Given the description of an element on the screen output the (x, y) to click on. 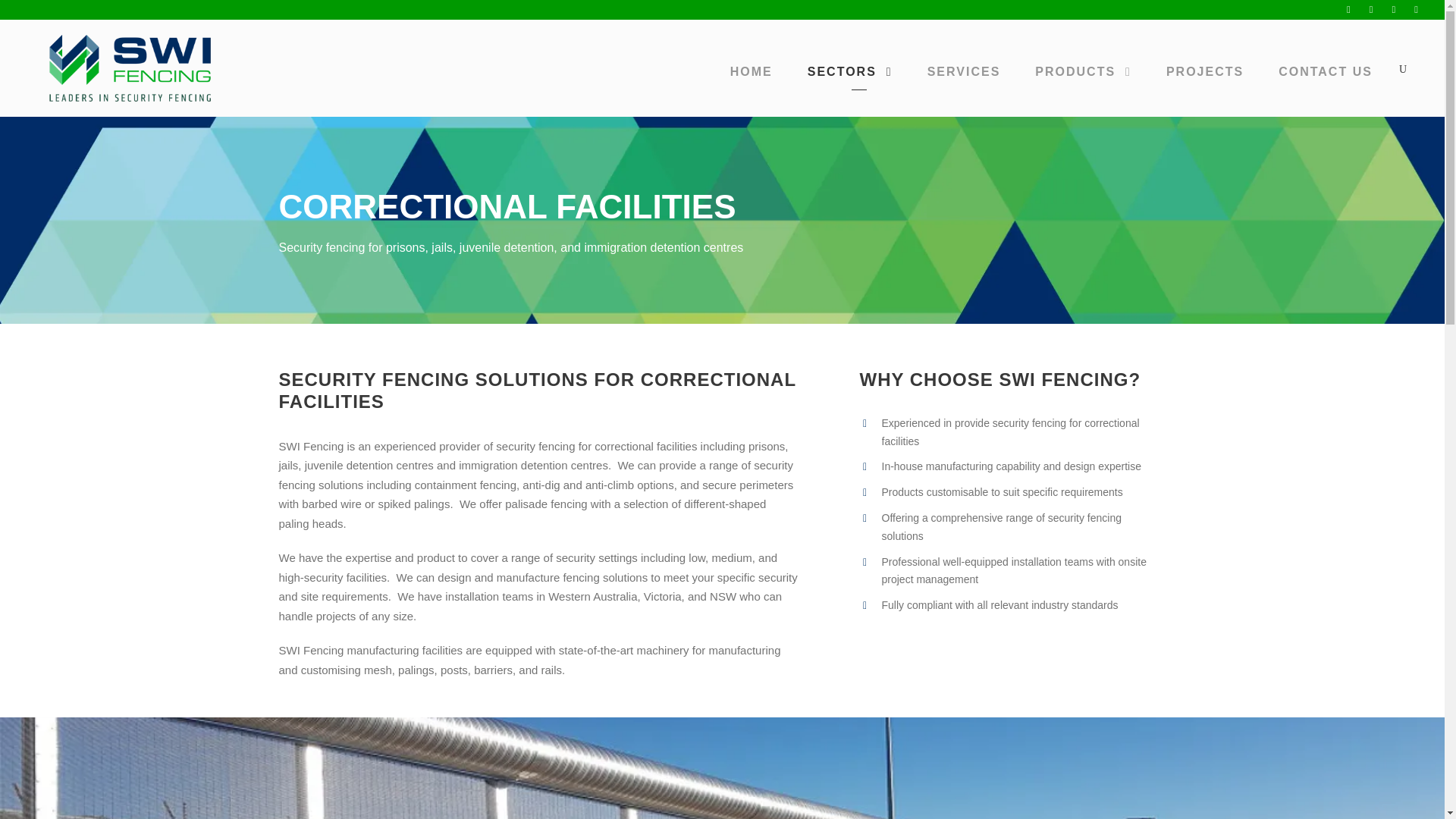
SWI-Fencing-logo (128, 69)
